Given the description of an element on the screen output the (x, y) to click on. 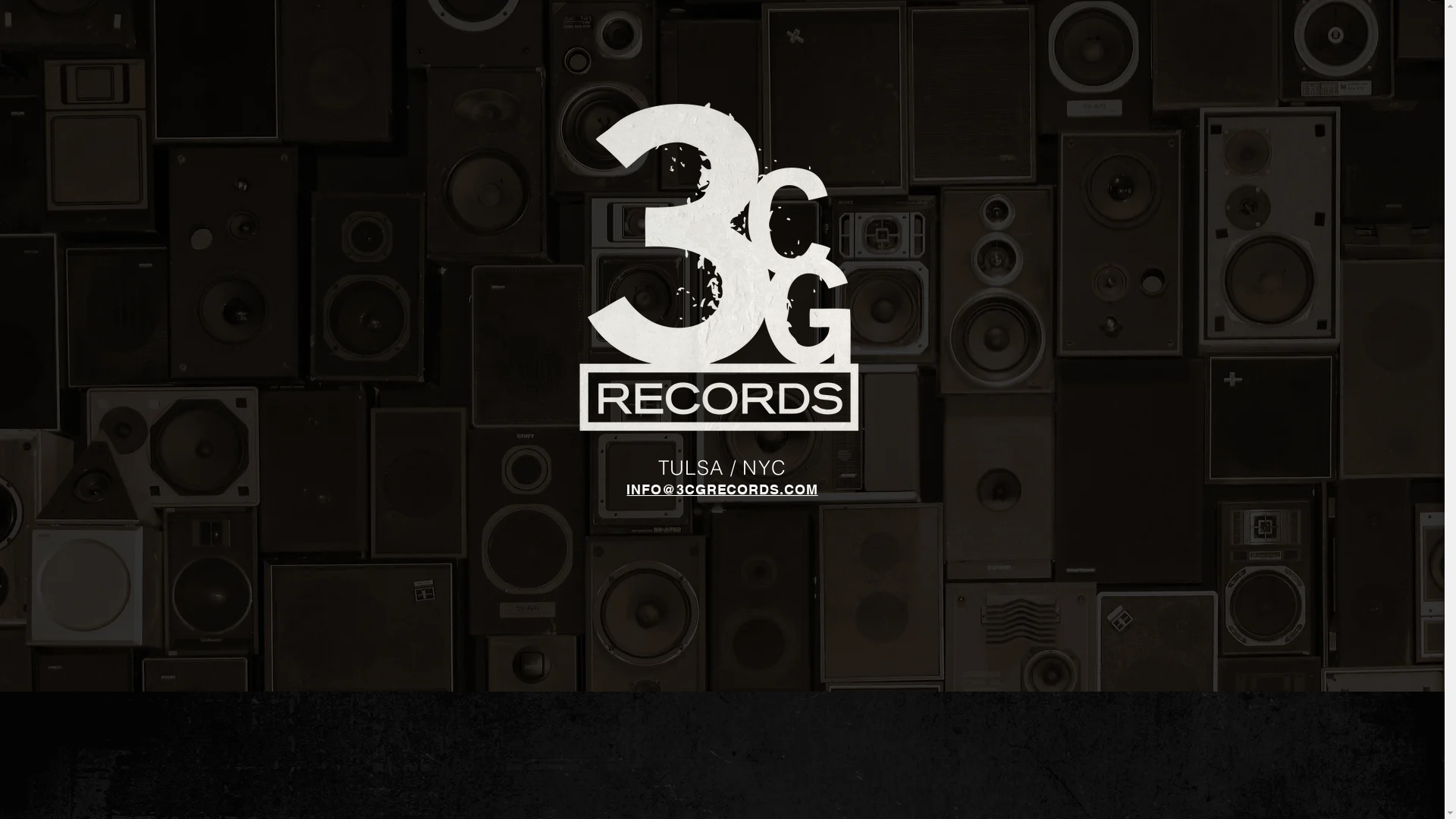
INFO@3CGRECORDS.COM Element type: text (721, 490)
